Given the description of an element on the screen output the (x, y) to click on. 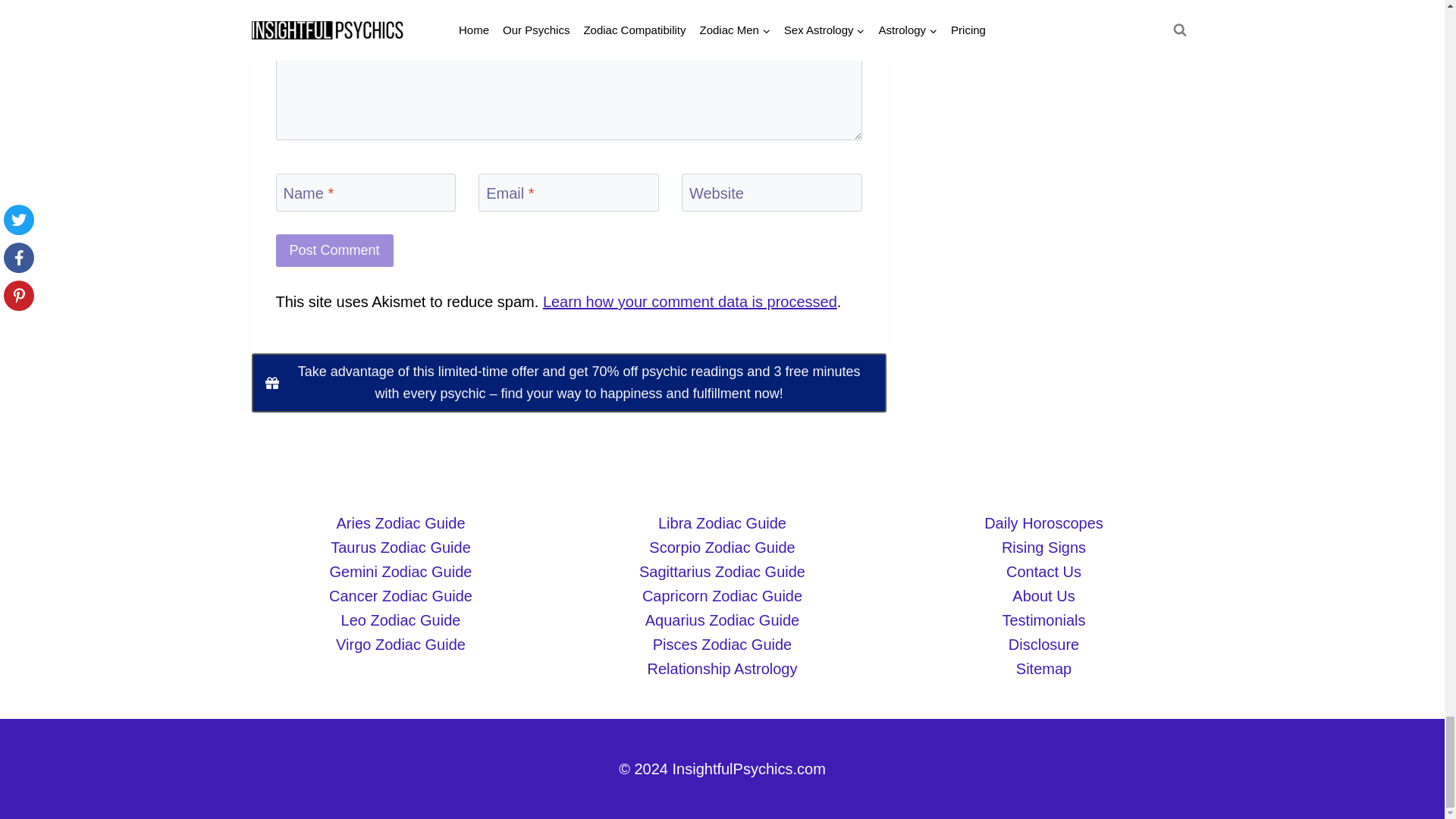
Post Comment (334, 250)
